Given the description of an element on the screen output the (x, y) to click on. 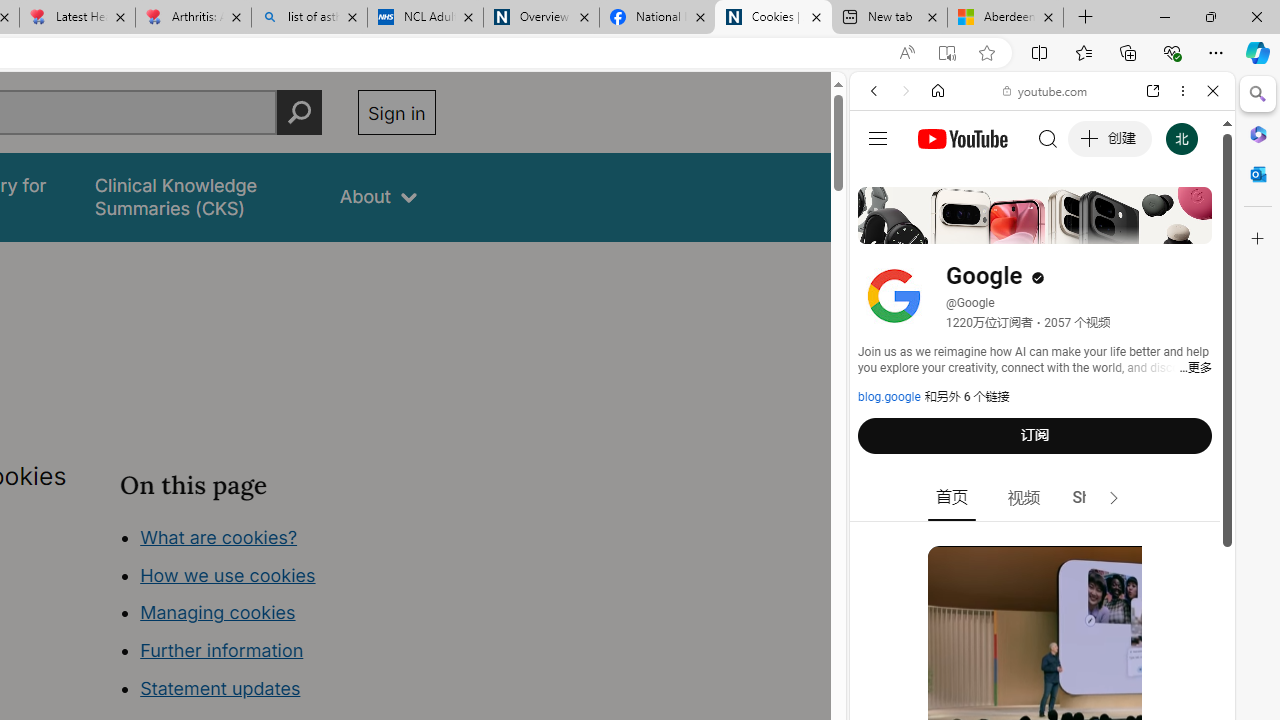
YouTube (1034, 296)
Shorts (1096, 497)
Perform search (299, 112)
Trailer #2 [HD] (1042, 594)
Music (1042, 543)
list of asthma inhalers uk - Search (309, 17)
Cookies | About | NICE (772, 17)
